Given the description of an element on the screen output the (x, y) to click on. 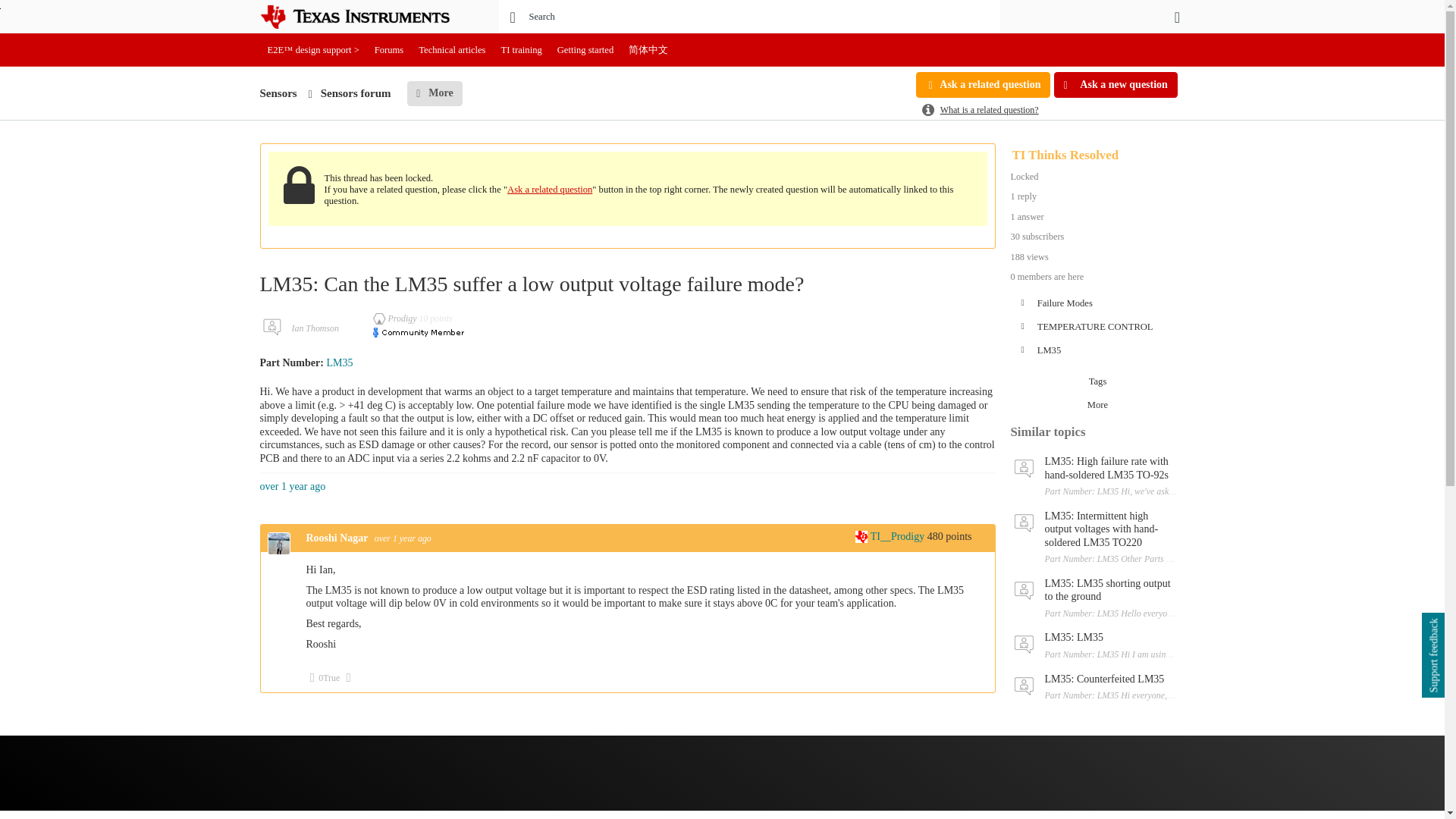
Join or sign in (1177, 17)
Link to Product Folder (339, 362)
Click here for explanation of levels (395, 317)
TI training (521, 49)
Home (365, 16)
Technical articles (451, 49)
Click here for explanation of levels (891, 536)
Forums (389, 49)
User (1177, 17)
Getting started (585, 49)
